Given the description of an element on the screen output the (x, y) to click on. 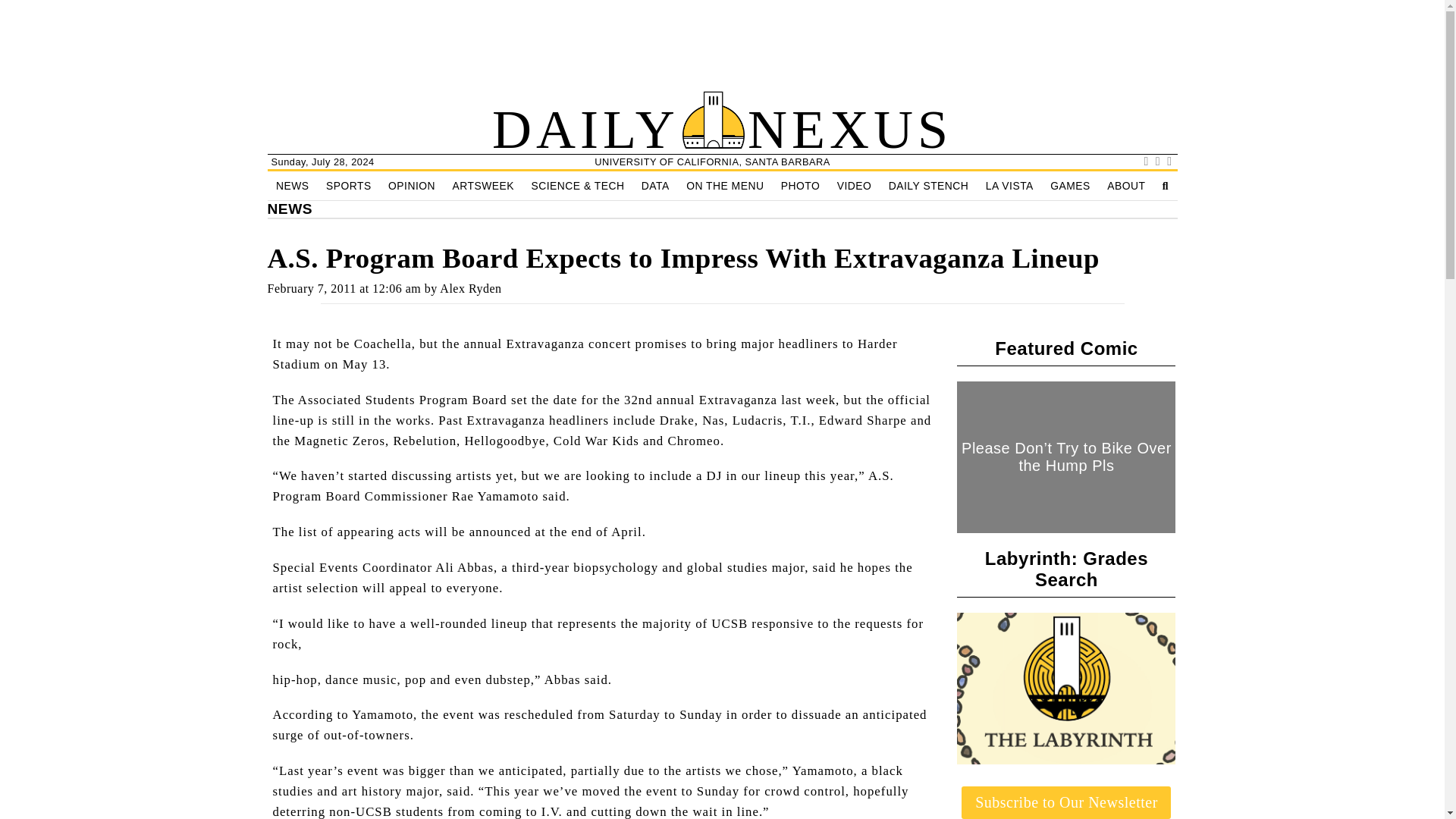
Posts by Alex Ryden (469, 287)
